Given the description of an element on the screen output the (x, y) to click on. 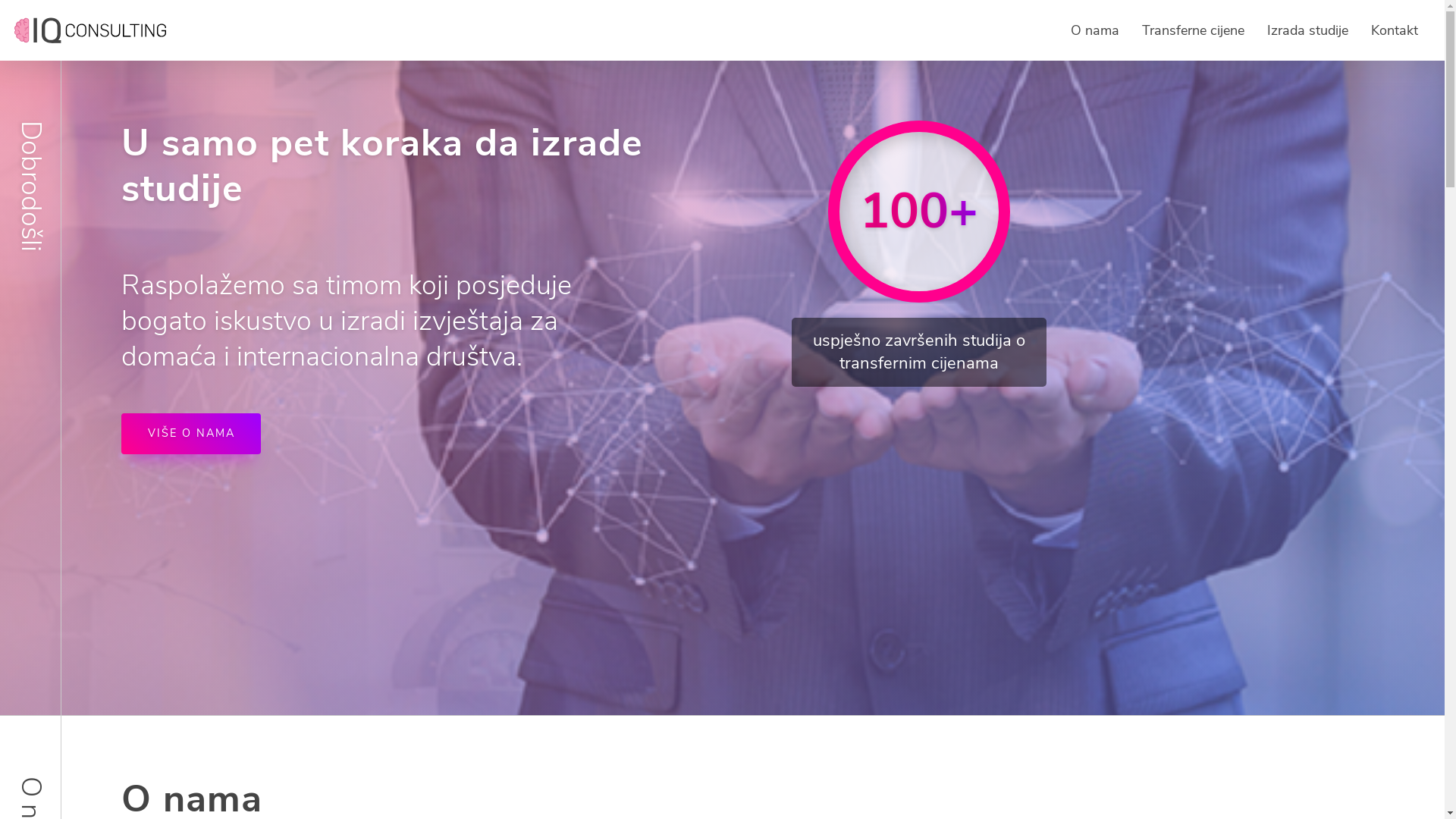
O nama Element type: text (1094, 30)
IQ consulting Element type: hover (90, 30)
Kontakt Element type: text (1394, 30)
Transferne cijene Element type: text (1193, 30)
Izrada studije Element type: text (1307, 30)
